Given the description of an element on the screen output the (x, y) to click on. 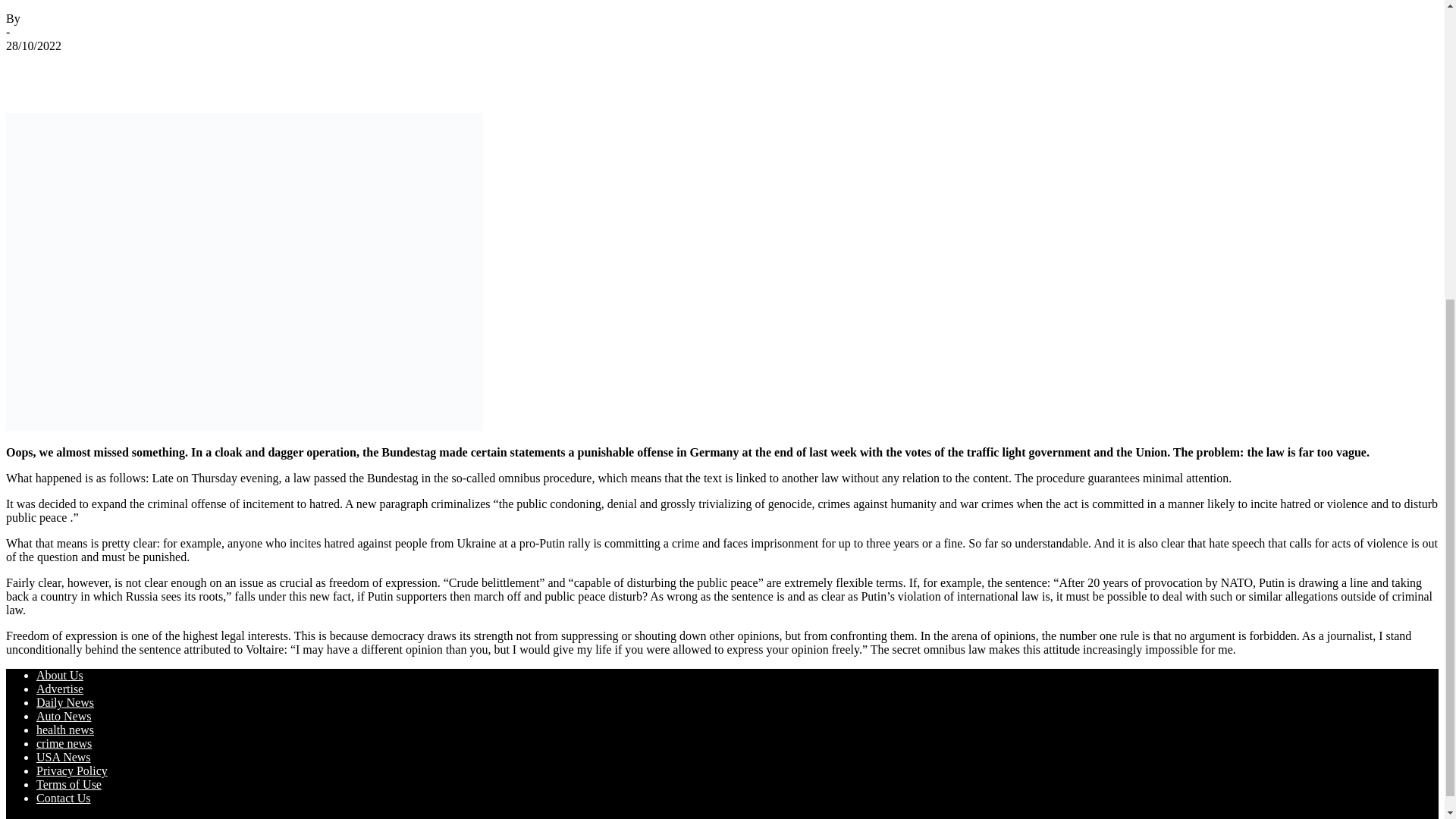
About Us (59, 675)
Privacy Policy (71, 770)
Advertise (59, 688)
Terms of Use (68, 784)
Daily News (65, 702)
health news (65, 729)
Contact Us (63, 797)
USA News (63, 757)
crime news (63, 743)
